Given the description of an element on the screen output the (x, y) to click on. 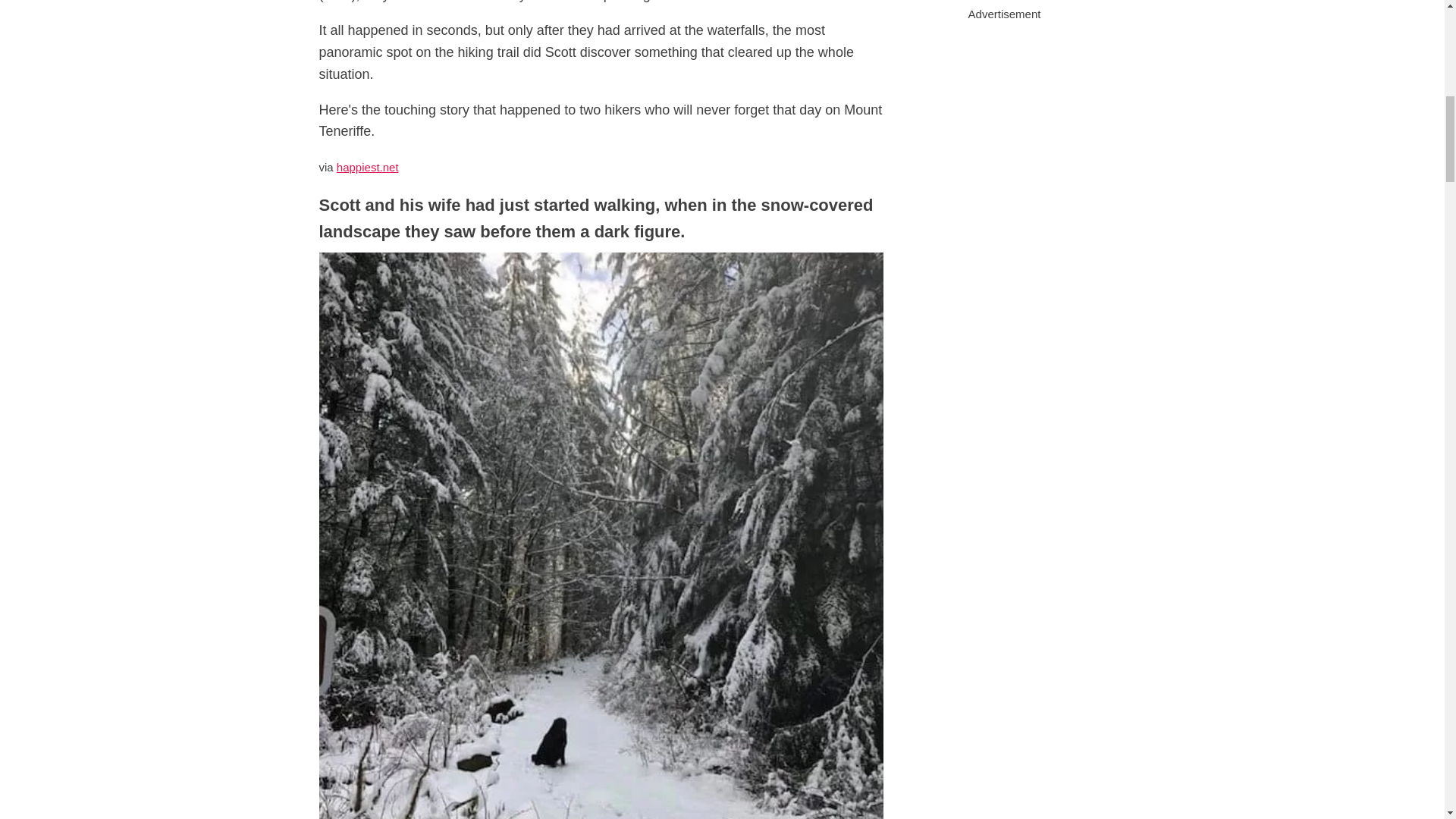
happiest.net (367, 166)
